Given the description of an element on the screen output the (x, y) to click on. 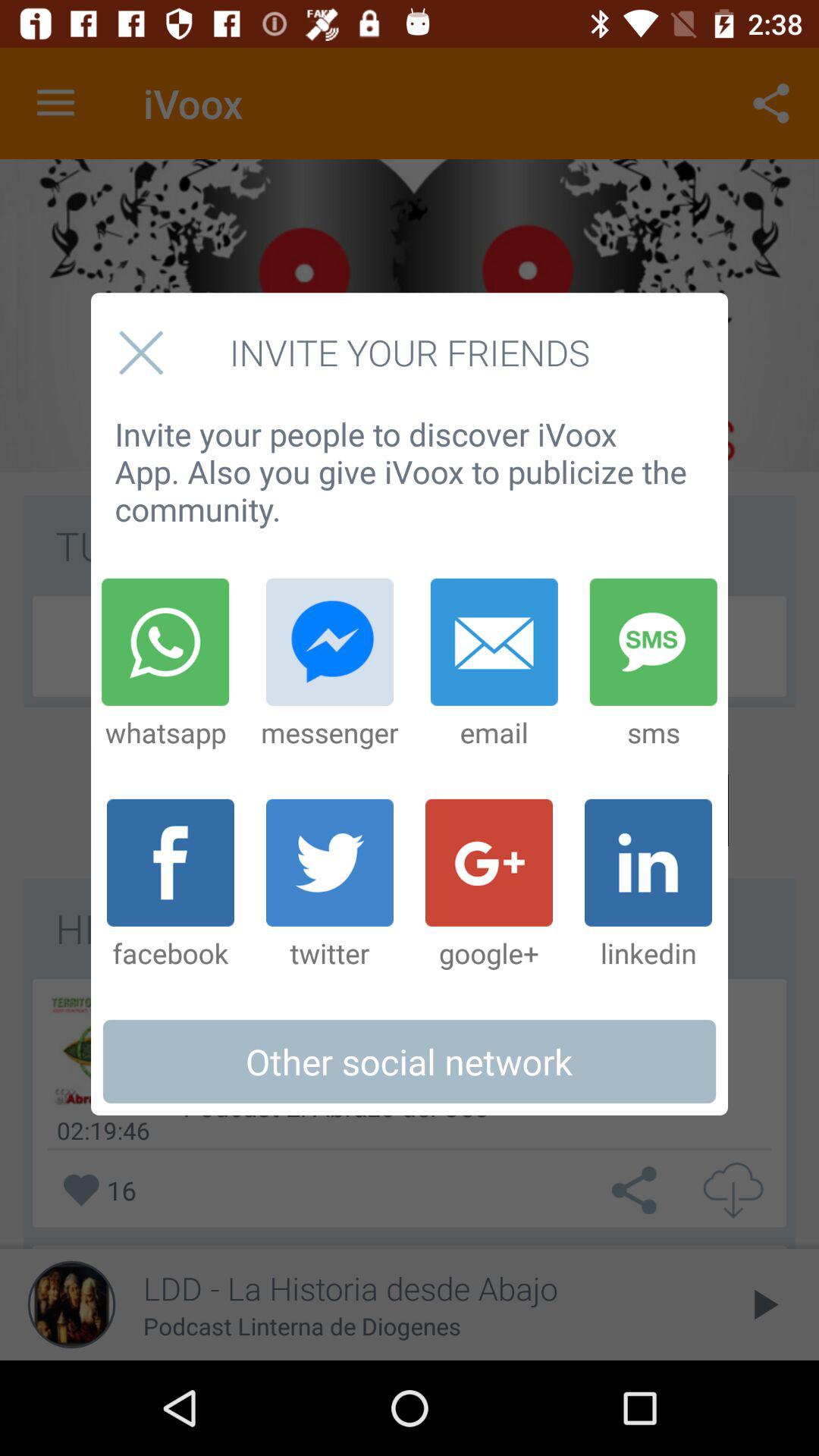
launch the item next to the twitter (170, 885)
